Given the description of an element on the screen output the (x, y) to click on. 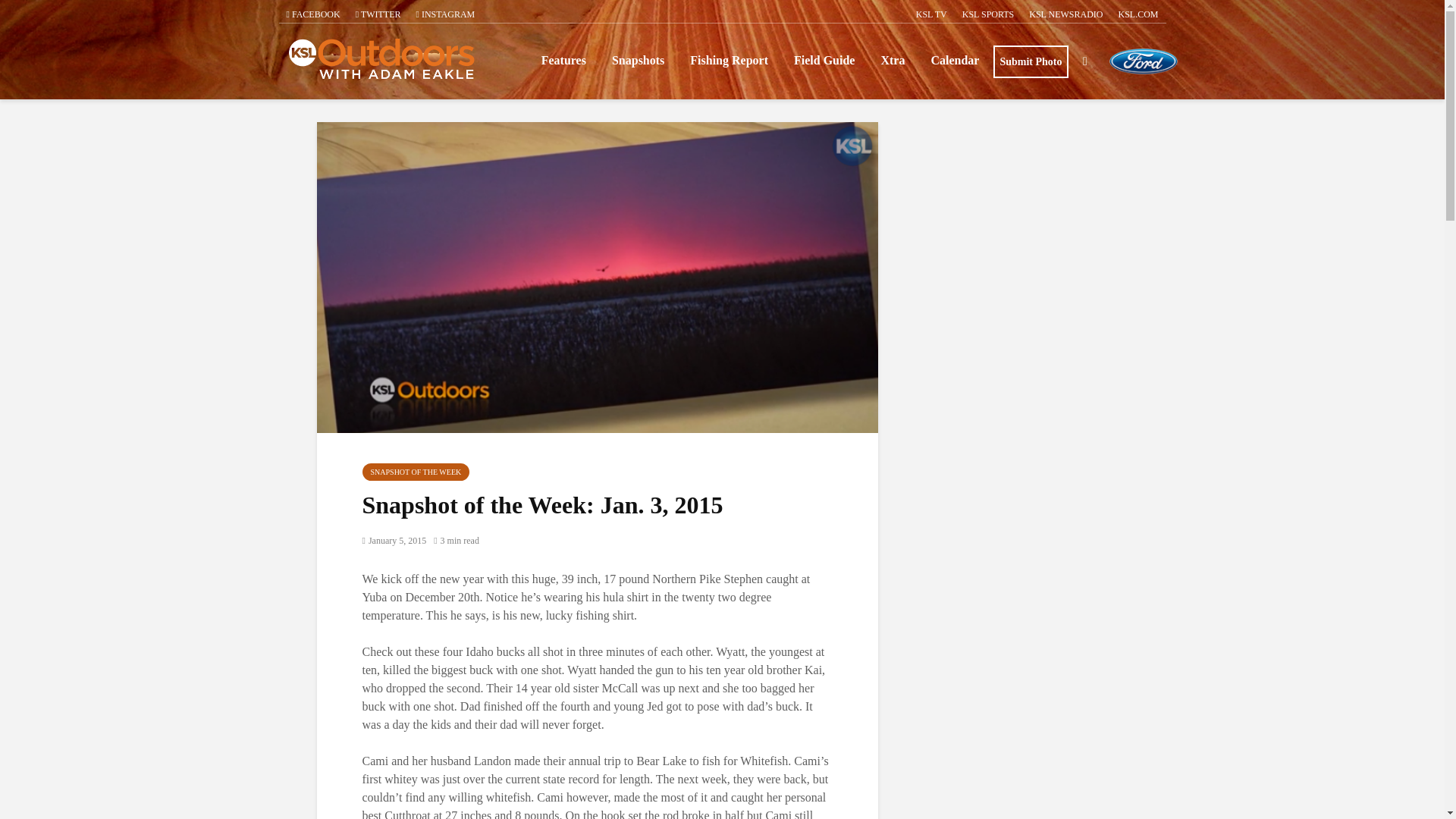
Features (562, 60)
Snapshots (637, 60)
Calendar (954, 60)
Fishing Report (728, 60)
INSTAGRAM (446, 14)
Xtra (892, 60)
Field Guide (824, 60)
KSL TV (931, 14)
KSL SPORTS (988, 14)
FACEBOOK (313, 14)
TWITTER (378, 14)
KSL.COM (1137, 14)
Submit Photo (1029, 61)
KSL NEWSRADIO (1065, 14)
SNAPSHOT OF THE WEEK (416, 471)
